Given the description of an element on the screen output the (x, y) to click on. 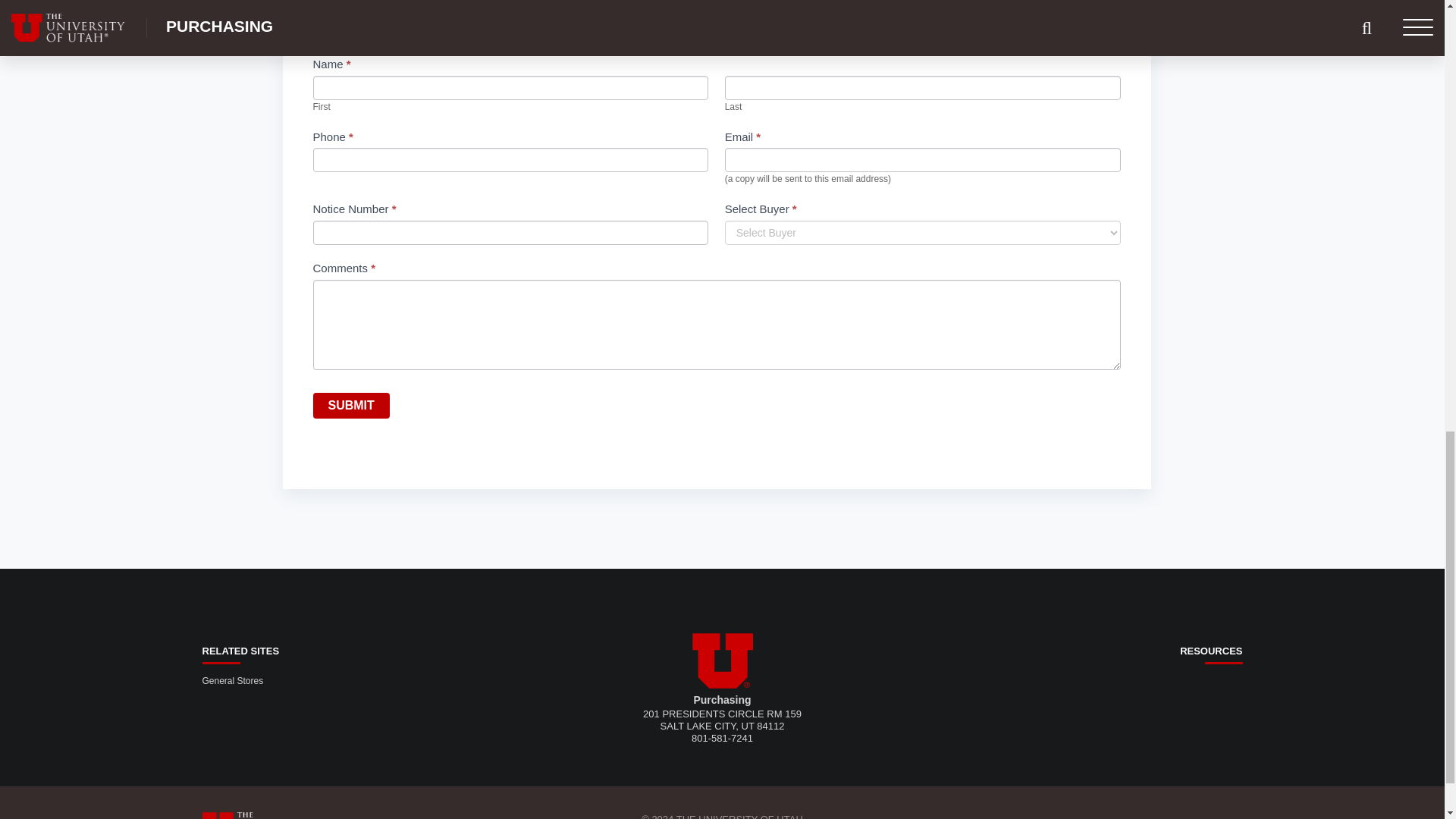
University of Utah (721, 660)
